Given the description of an element on the screen output the (x, y) to click on. 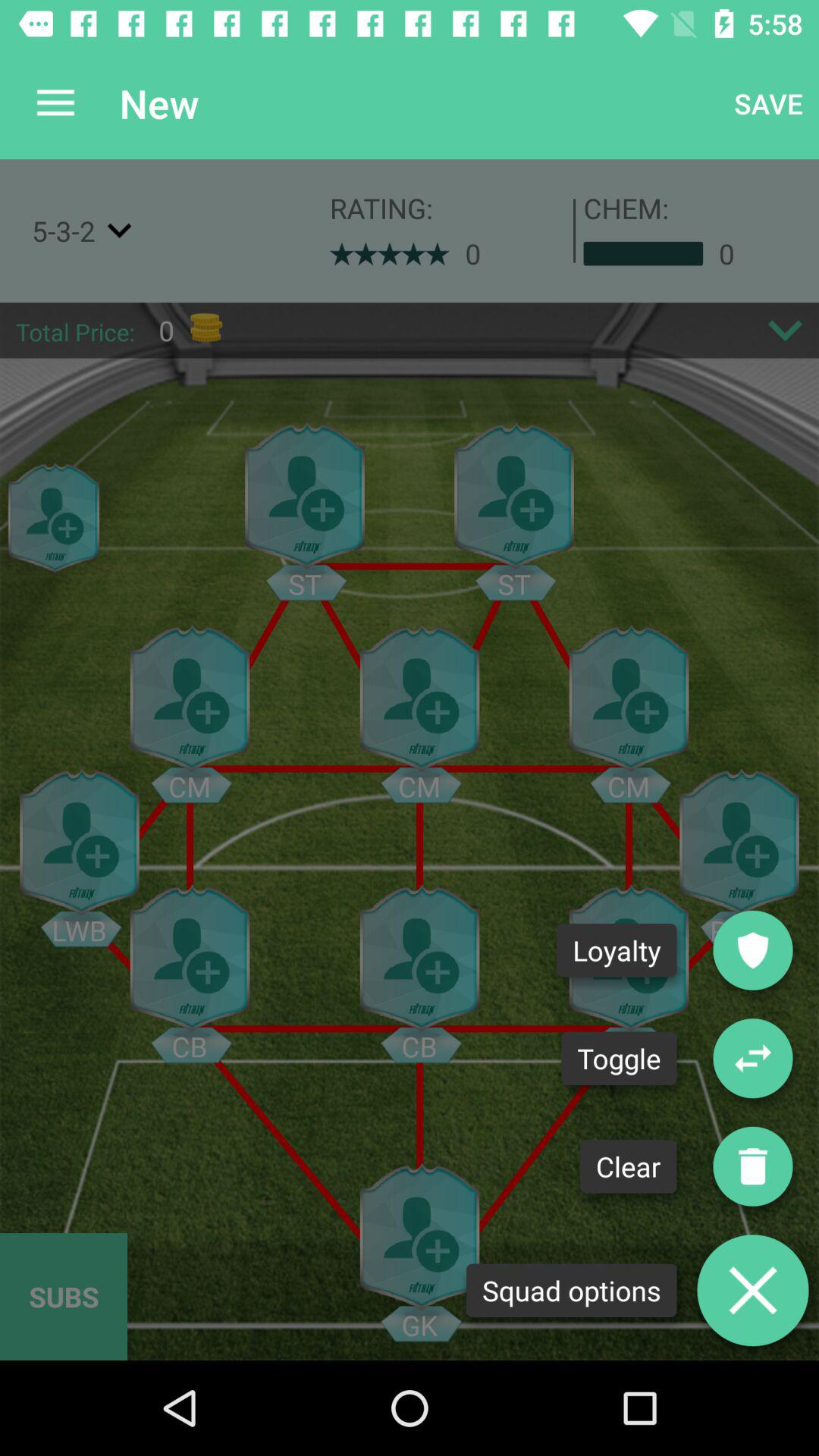
close menu (753, 1290)
